Given the description of an element on the screen output the (x, y) to click on. 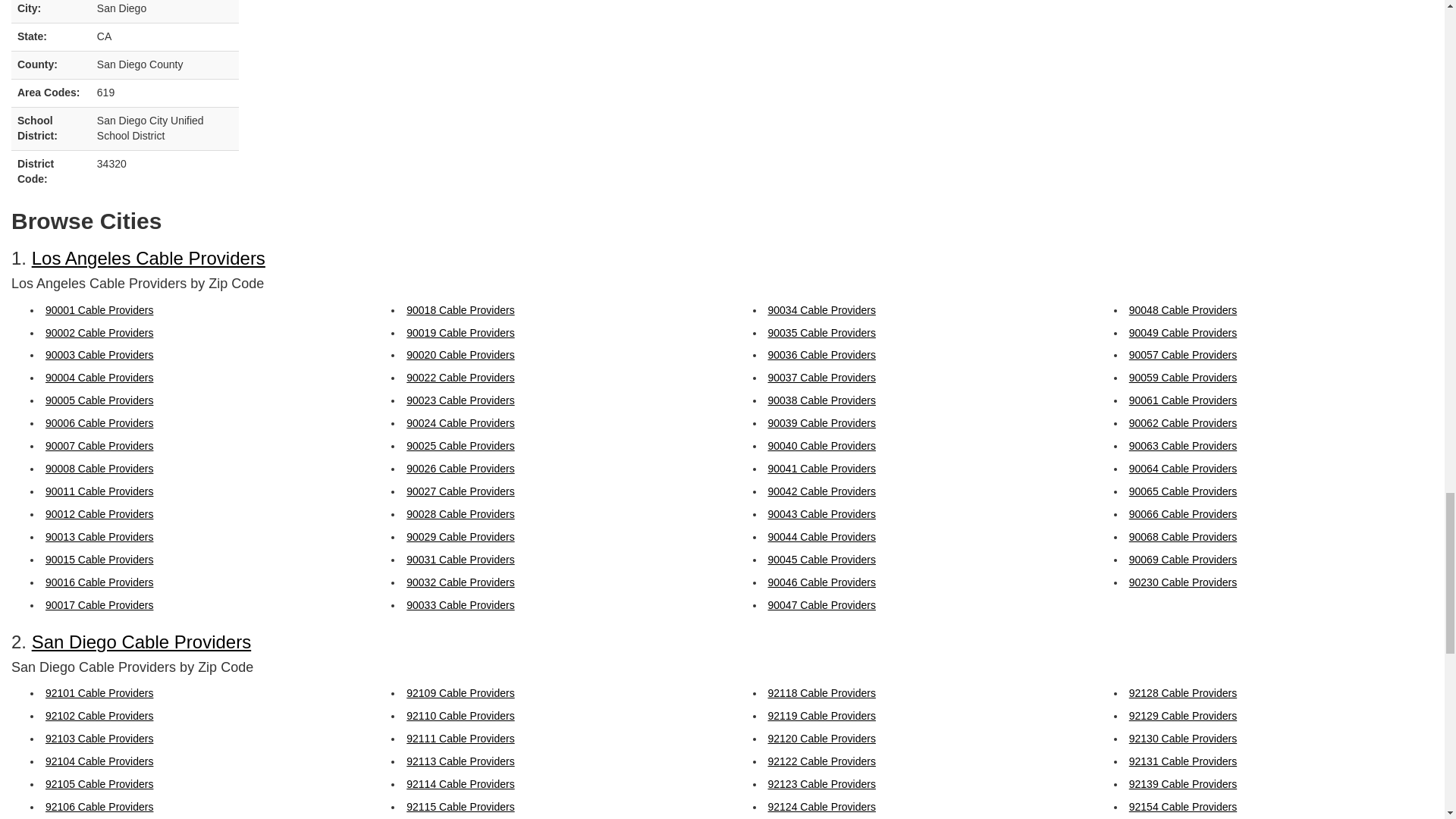
90004 Cable Providers (98, 377)
90003 Cable Providers (98, 354)
90005 Cable Providers (98, 399)
Los Angeles Cable Providers (148, 258)
90002 Cable Providers (98, 331)
90001 Cable Providers (98, 309)
